Given the description of an element on the screen output the (x, y) to click on. 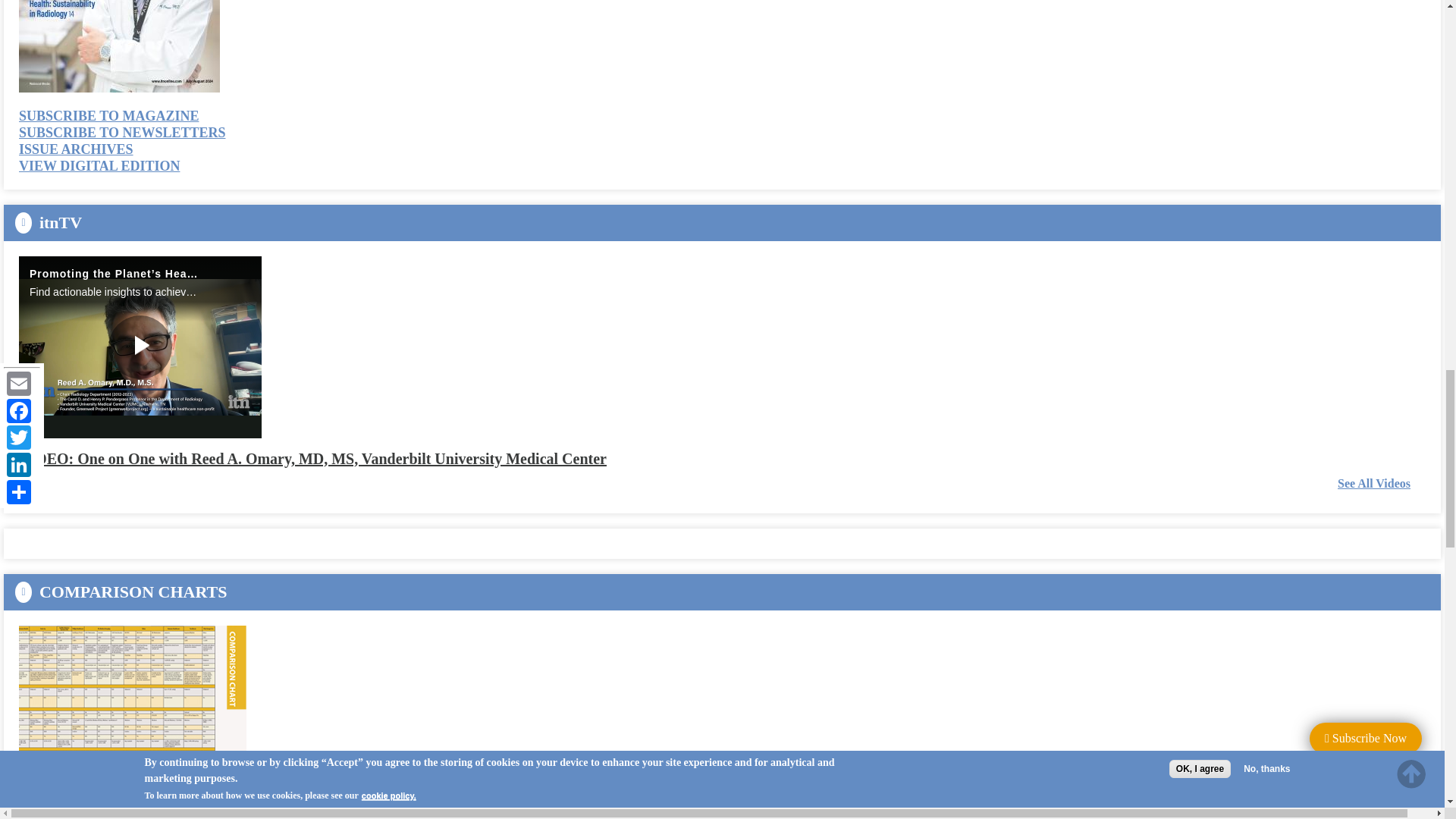
Play Video (139, 347)
